Given the description of an element on the screen output the (x, y) to click on. 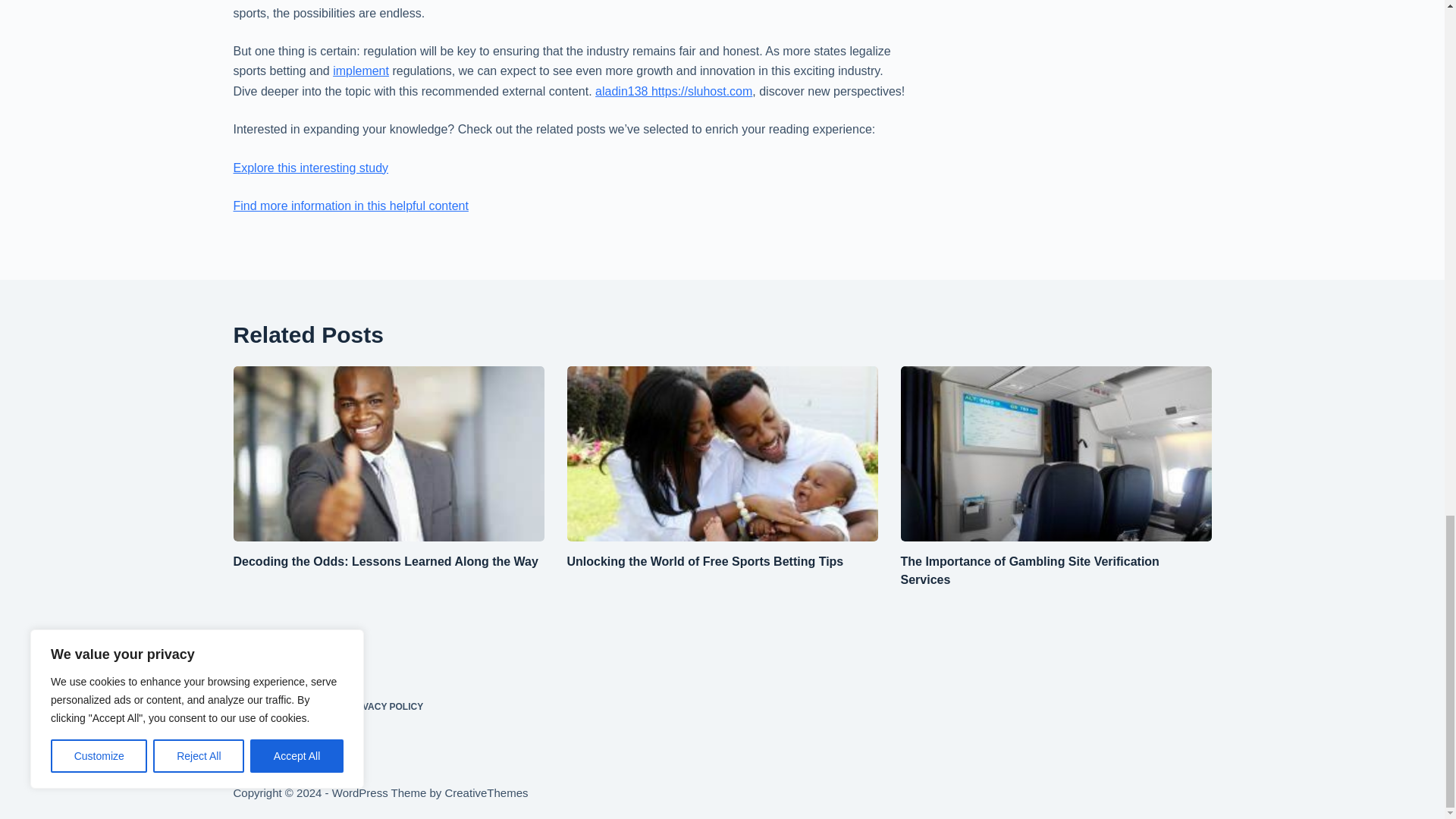
implement (360, 70)
Find more information in this helpful content (350, 205)
Explore this interesting study (310, 167)
